Given the description of an element on the screen output the (x, y) to click on. 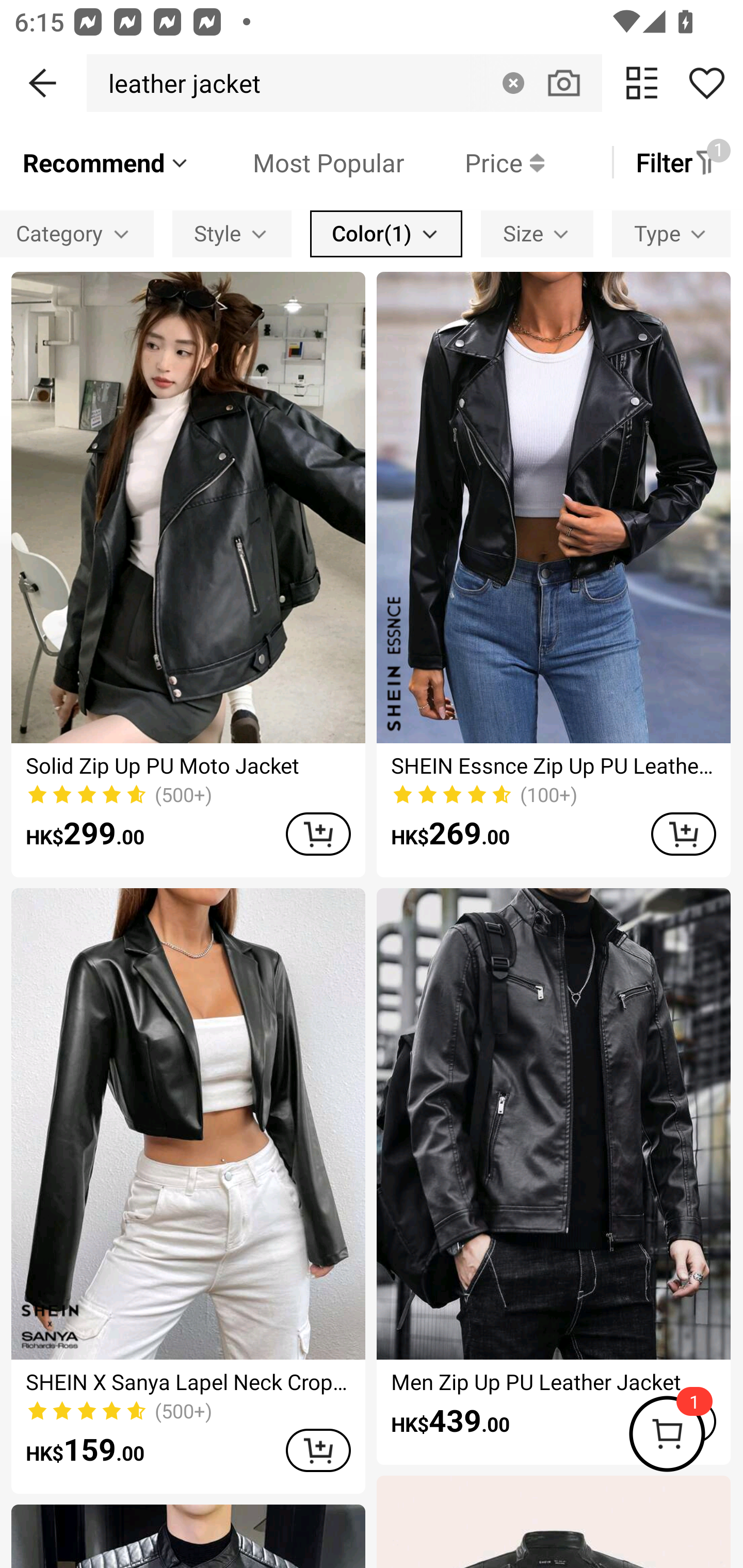
leather jacket Clear (343, 82)
leather jacket (178, 82)
Clear (513, 82)
change view (641, 82)
Share (706, 82)
Recommend (106, 162)
Most Popular (297, 162)
Price (474, 162)
Filter 1 (677, 162)
Category (76, 233)
Style (231, 233)
Color(1) (385, 233)
Size (536, 233)
Type (671, 233)
ADD TO CART (318, 834)
ADD TO CART (683, 834)
ADD TO CART (318, 1450)
